Given the description of an element on the screen output the (x, y) to click on. 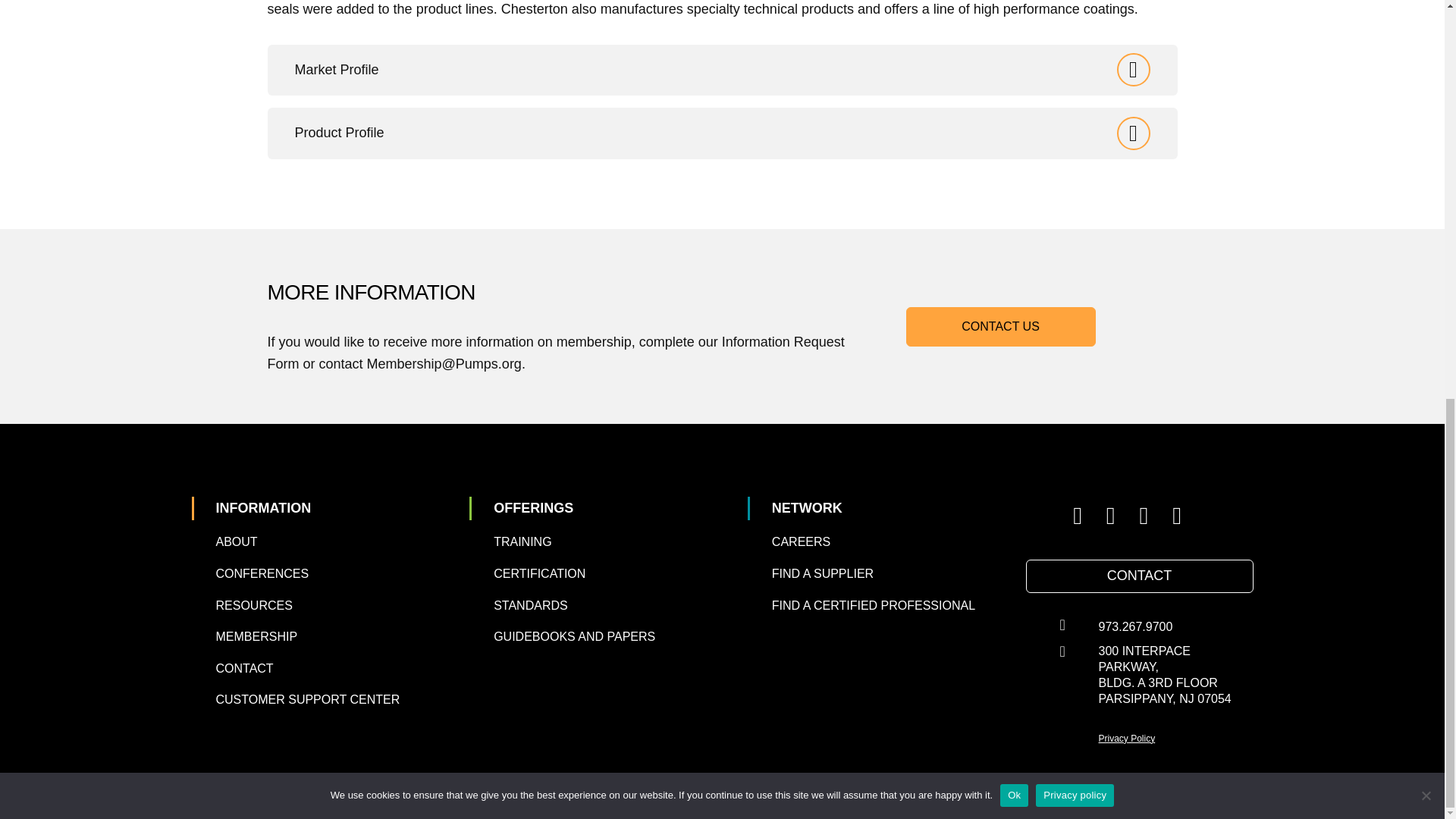
CAREERS (800, 541)
CONTACT (1139, 575)
CONTACT (244, 667)
FIND A CERTIFIED PROFESSIONAL (873, 604)
CONTACT US (1000, 325)
CONFERENCES (261, 573)
973.267.9700 (1136, 626)
CERTIFICATION (539, 573)
MEMBERSHIP (256, 635)
FIND A SUPPLIER (822, 573)
Market Profile (722, 70)
No (1425, 20)
RESOURCES (253, 604)
STANDARDS (530, 604)
TRAINING (522, 541)
